Given the description of an element on the screen output the (x, y) to click on. 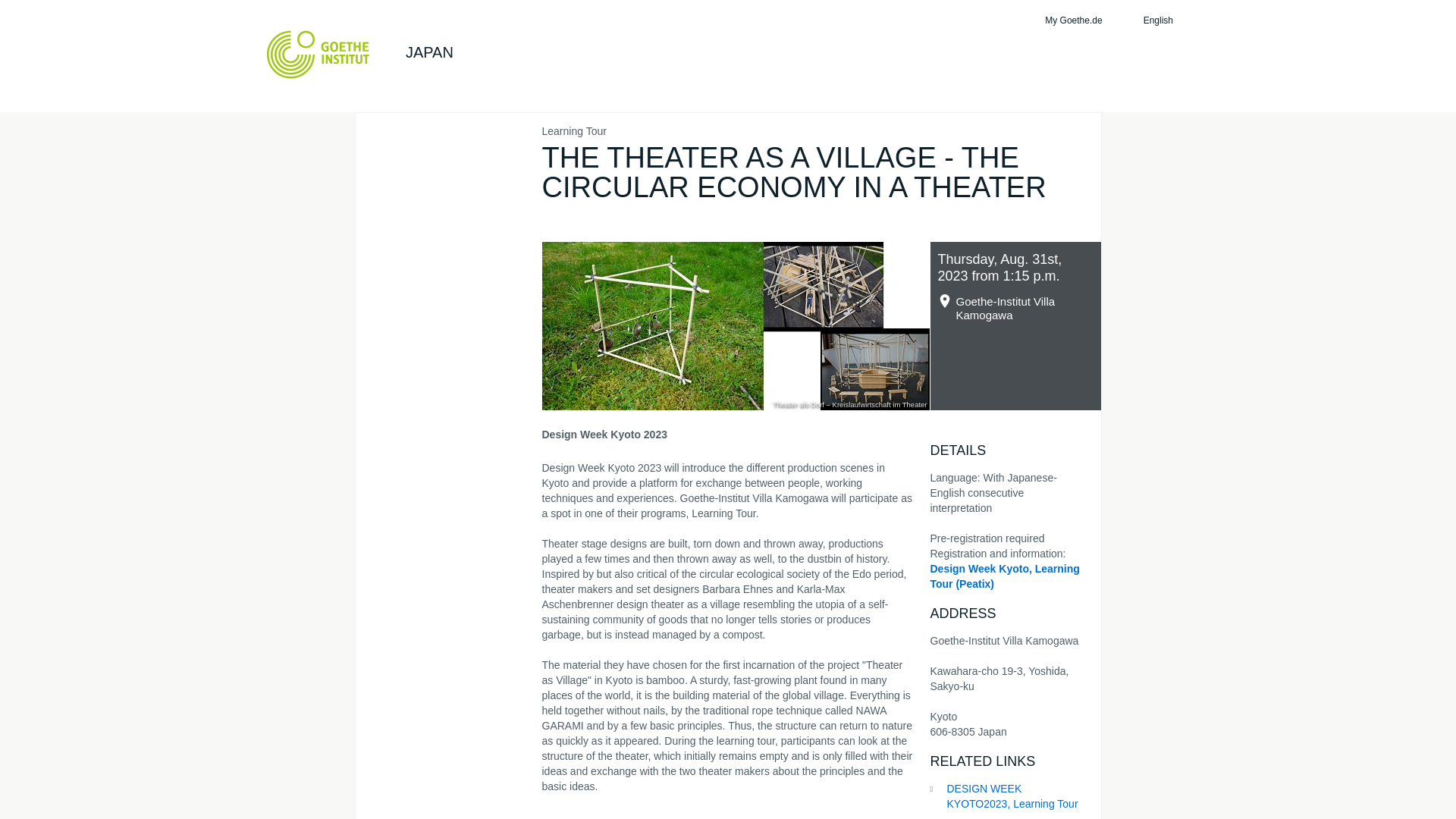
My Goethe.de (1070, 20)
DESIGN WEEK KYOTO2023, Learning Tour (1007, 797)
English (1165, 20)
Claim Goethe Institut (317, 54)
Claim Goethe Institut (317, 54)
